Given the description of an element on the screen output the (x, y) to click on. 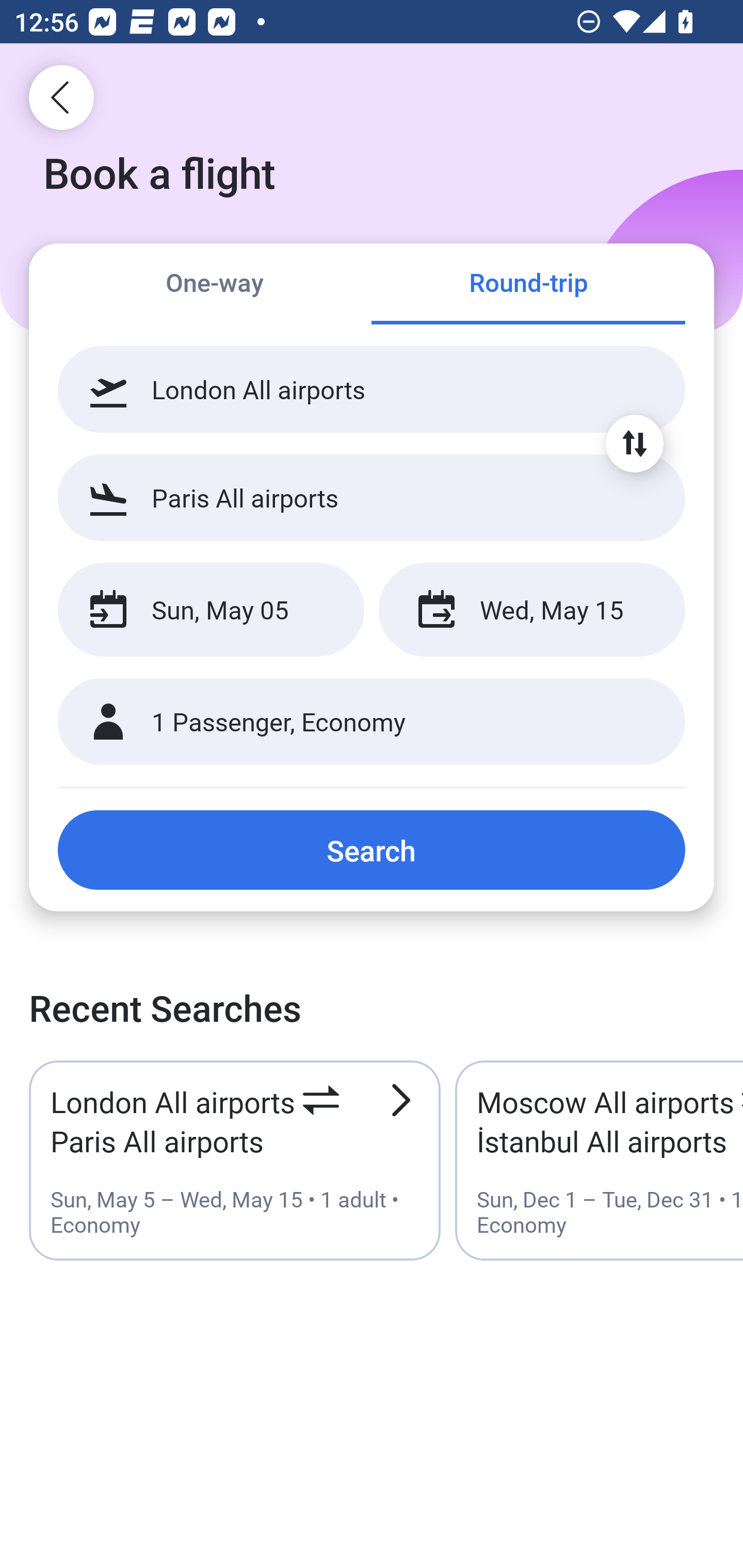
One-way (214, 284)
London All airports (371, 389)
Paris All airports (371, 497)
Sun, May 05 (210, 609)
Wed, May 15 (531, 609)
1 Passenger, Economy (371, 721)
Search (371, 849)
